Given the description of an element on the screen output the (x, y) to click on. 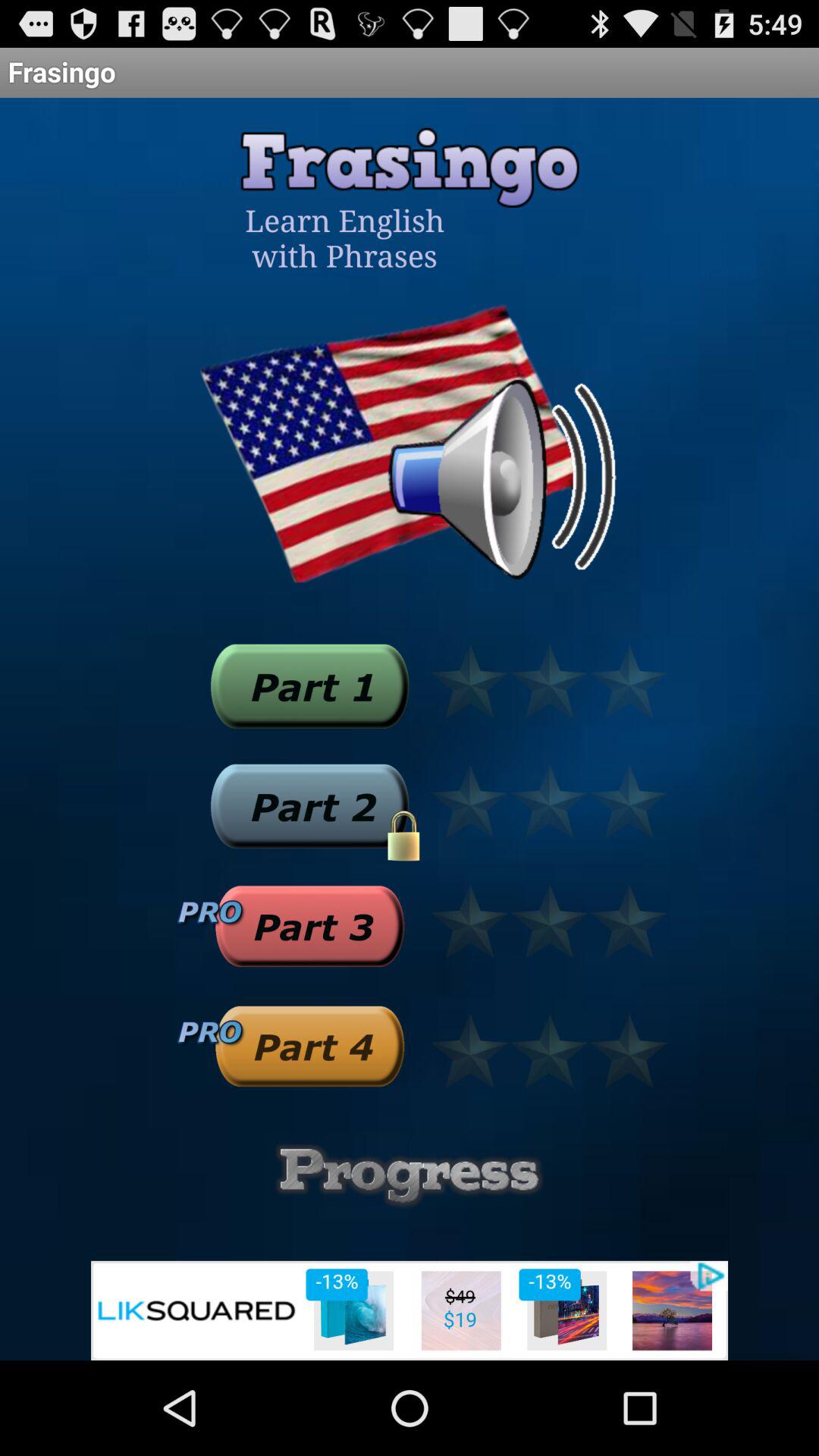
go to part 4 (309, 1046)
